Given the description of an element on the screen output the (x, y) to click on. 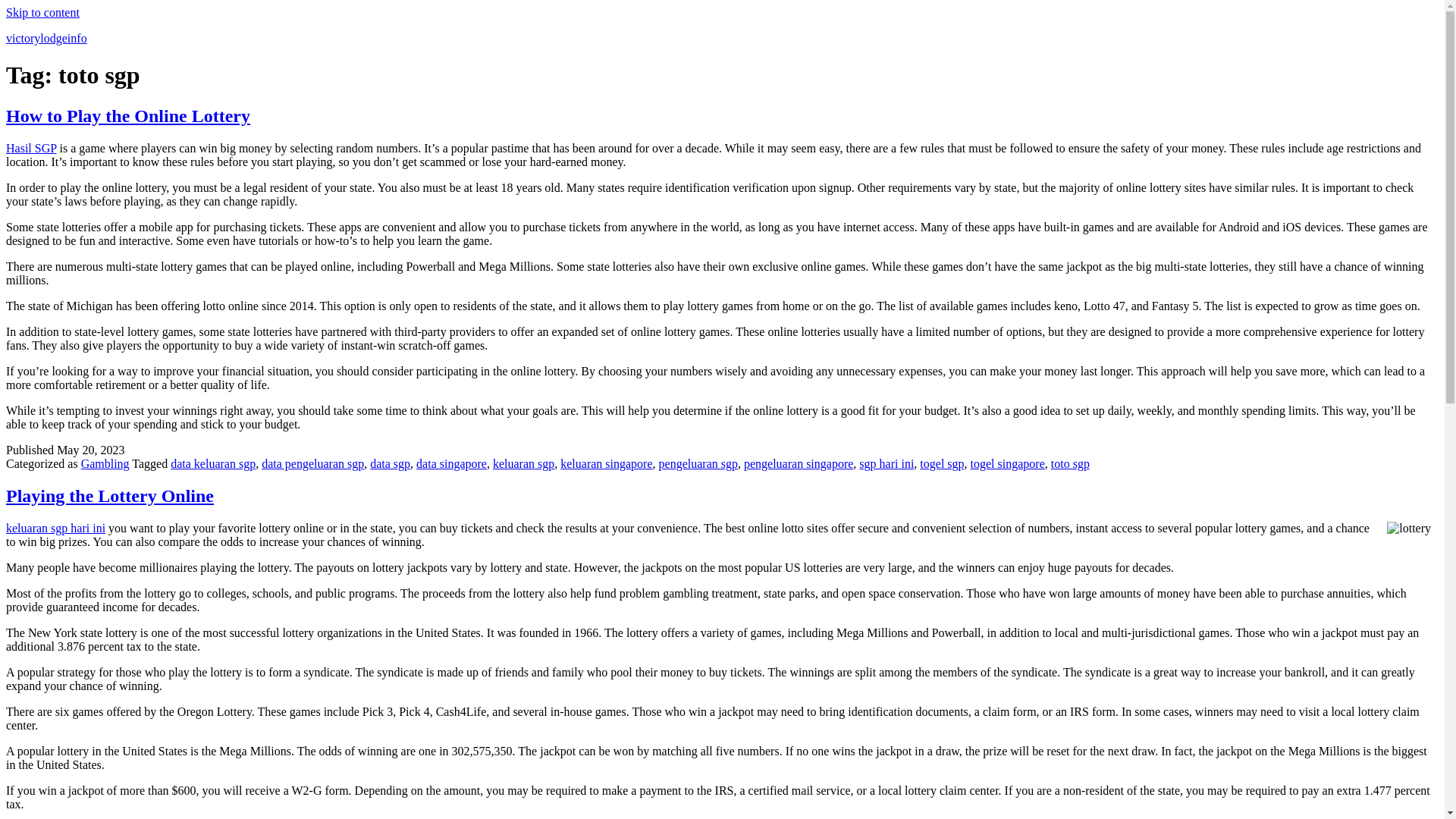
Hasil SGP (30, 147)
data singapore (451, 463)
Playing the Lottery Online (109, 496)
data keluaran sgp (213, 463)
keluaran sgp hari ini (54, 527)
toto sgp (1070, 463)
Gambling (105, 463)
Skip to content (42, 11)
sgp hari ini (886, 463)
togel sgp (941, 463)
keluaran sgp (523, 463)
pengeluaran singapore (798, 463)
victorylodgeinfo (46, 38)
data pengeluaran sgp (313, 463)
keluaran singapore (606, 463)
